Given the description of an element on the screen output the (x, y) to click on. 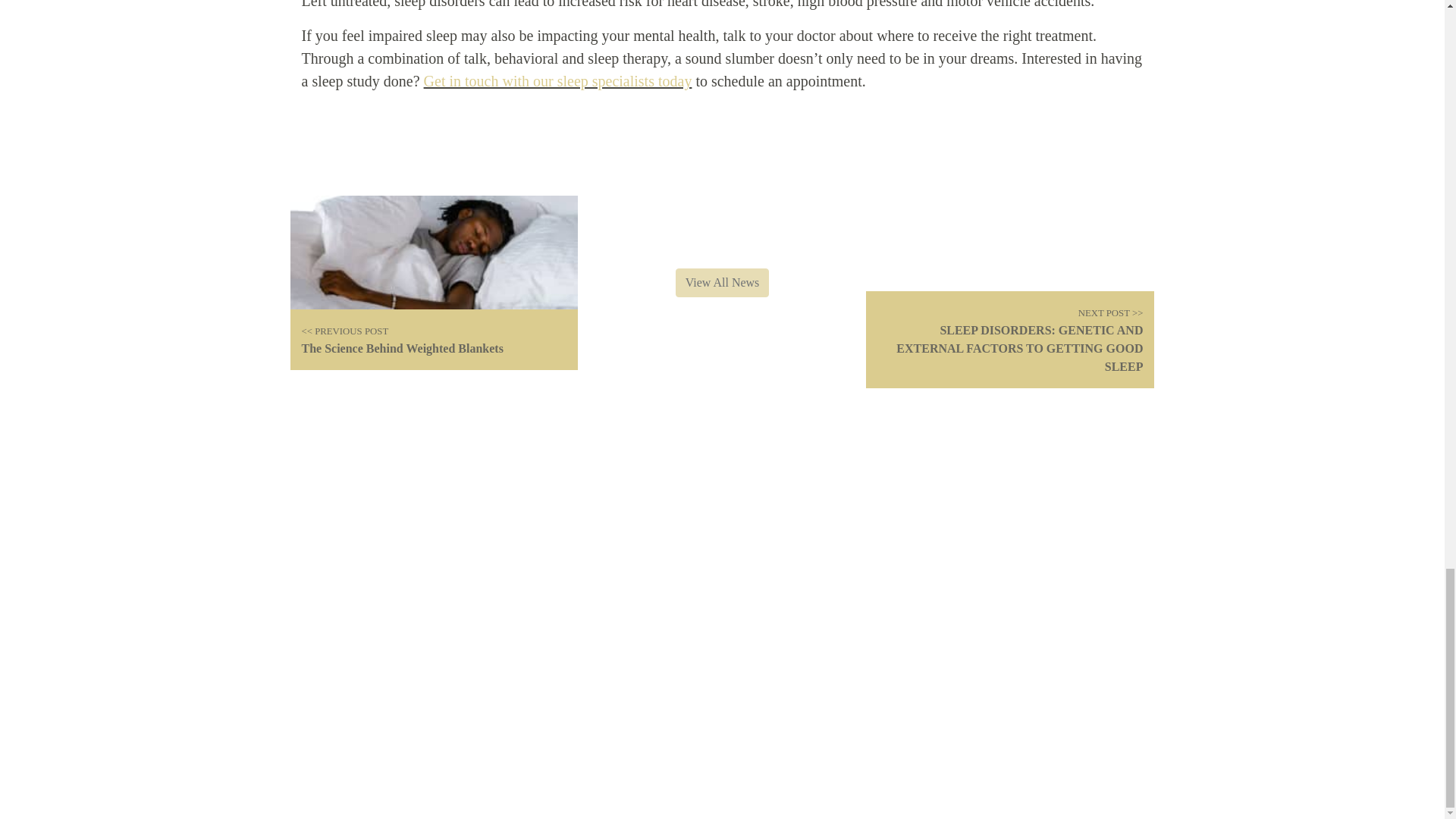
View All News (722, 281)
View All News (722, 282)
Get in touch with our sleep specialists today (558, 80)
